Given the description of an element on the screen output the (x, y) to click on. 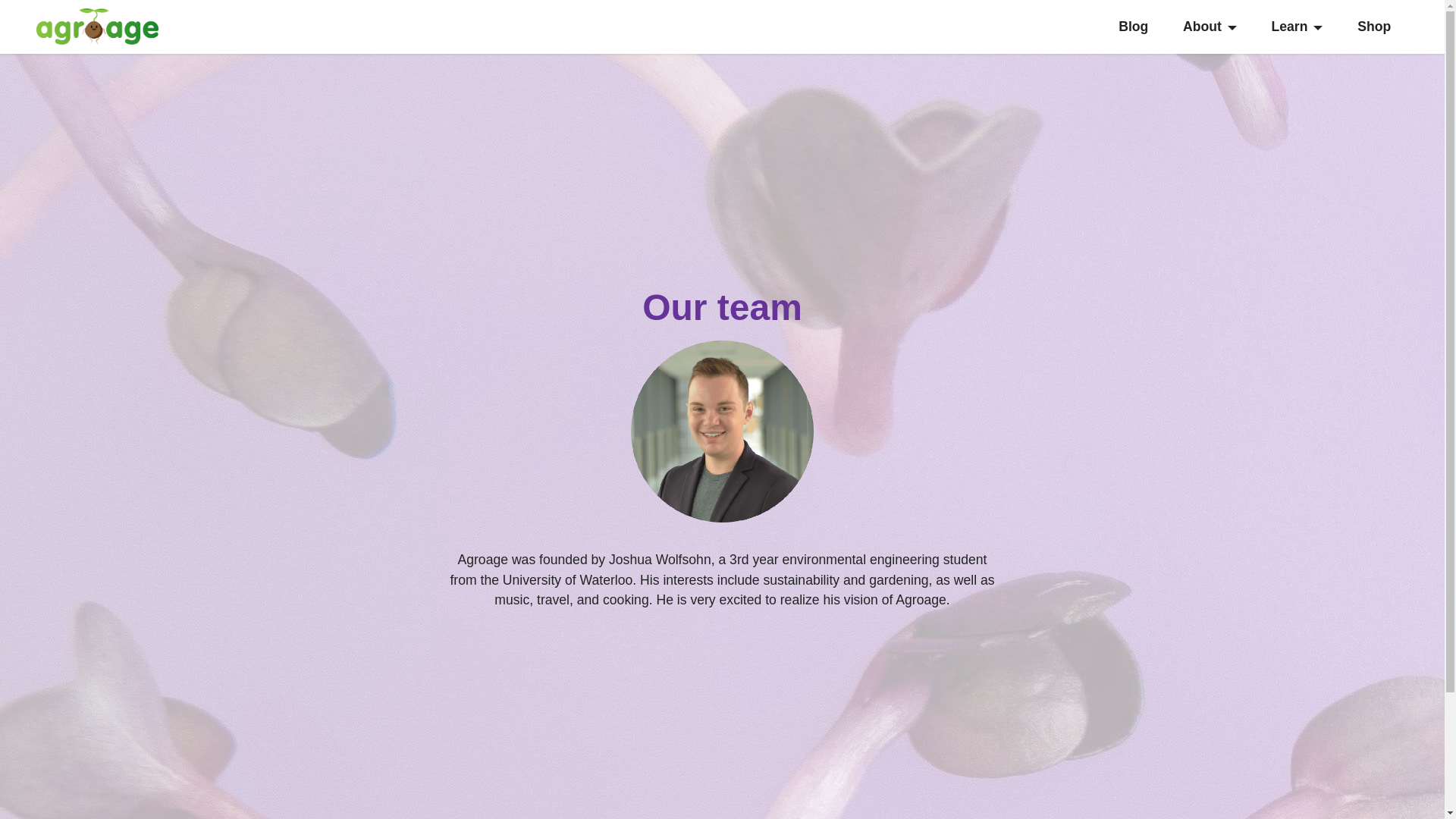
Learn Element type: text (1296, 26)
About Element type: text (1209, 26)
Shop Element type: text (1374, 26)
Blog Element type: text (1133, 26)
